Given the description of an element on the screen output the (x, y) to click on. 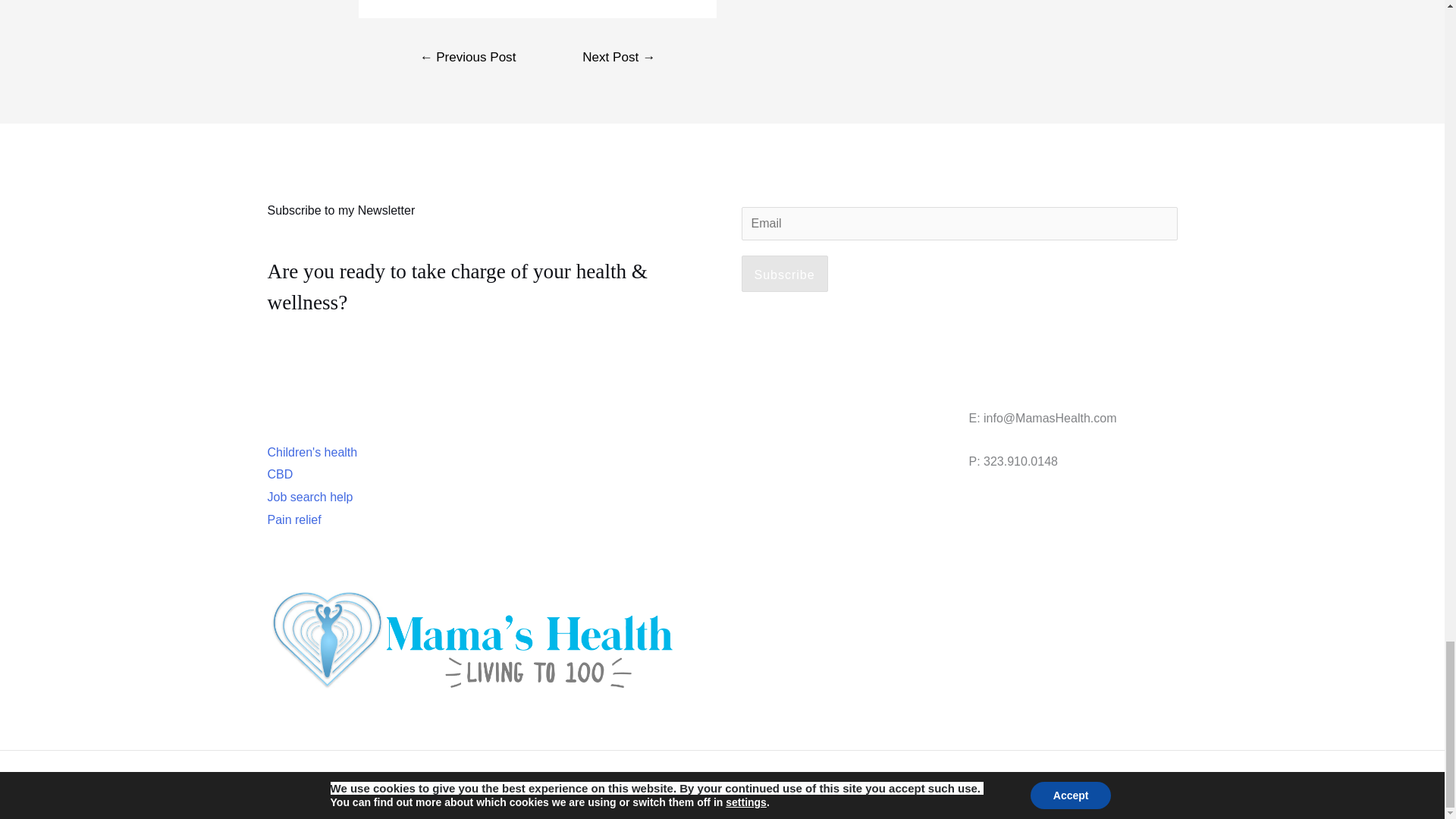
Subscribe (784, 273)
Children's health (311, 451)
Pain relief (293, 519)
CBD (279, 473)
Job search help (309, 496)
